Given the description of an element on the screen output the (x, y) to click on. 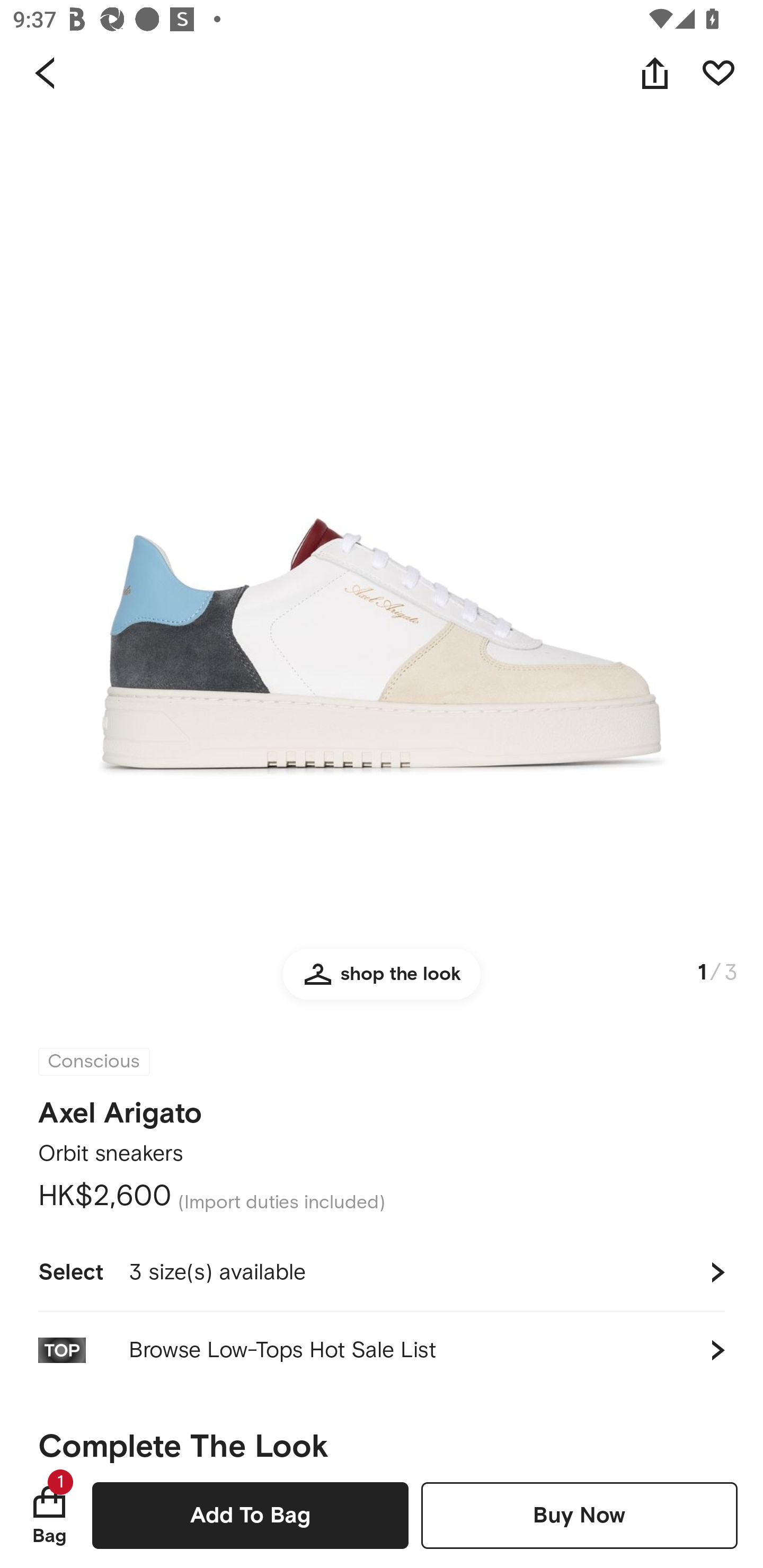
shop the look (381, 982)
Axel Arigato (120, 1113)
Select 3 size(s) available (381, 1272)
Browse Low-Tops Hot Sale List (381, 1349)
Bag 1 (49, 1515)
Add To Bag (250, 1515)
Buy Now (579, 1515)
